Given the description of an element on the screen output the (x, y) to click on. 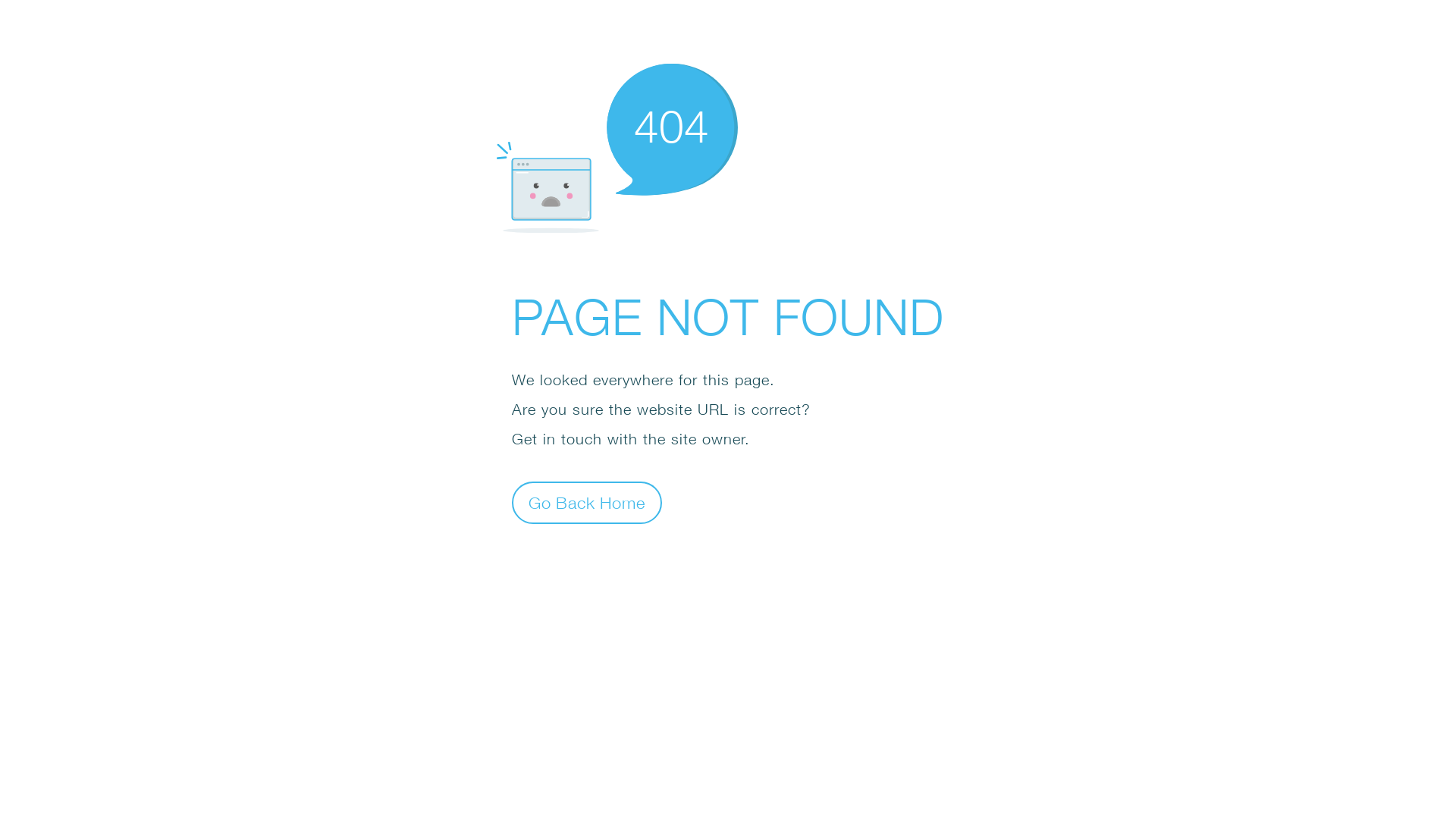
Go Back Home Element type: text (586, 502)
